Given the description of an element on the screen output the (x, y) to click on. 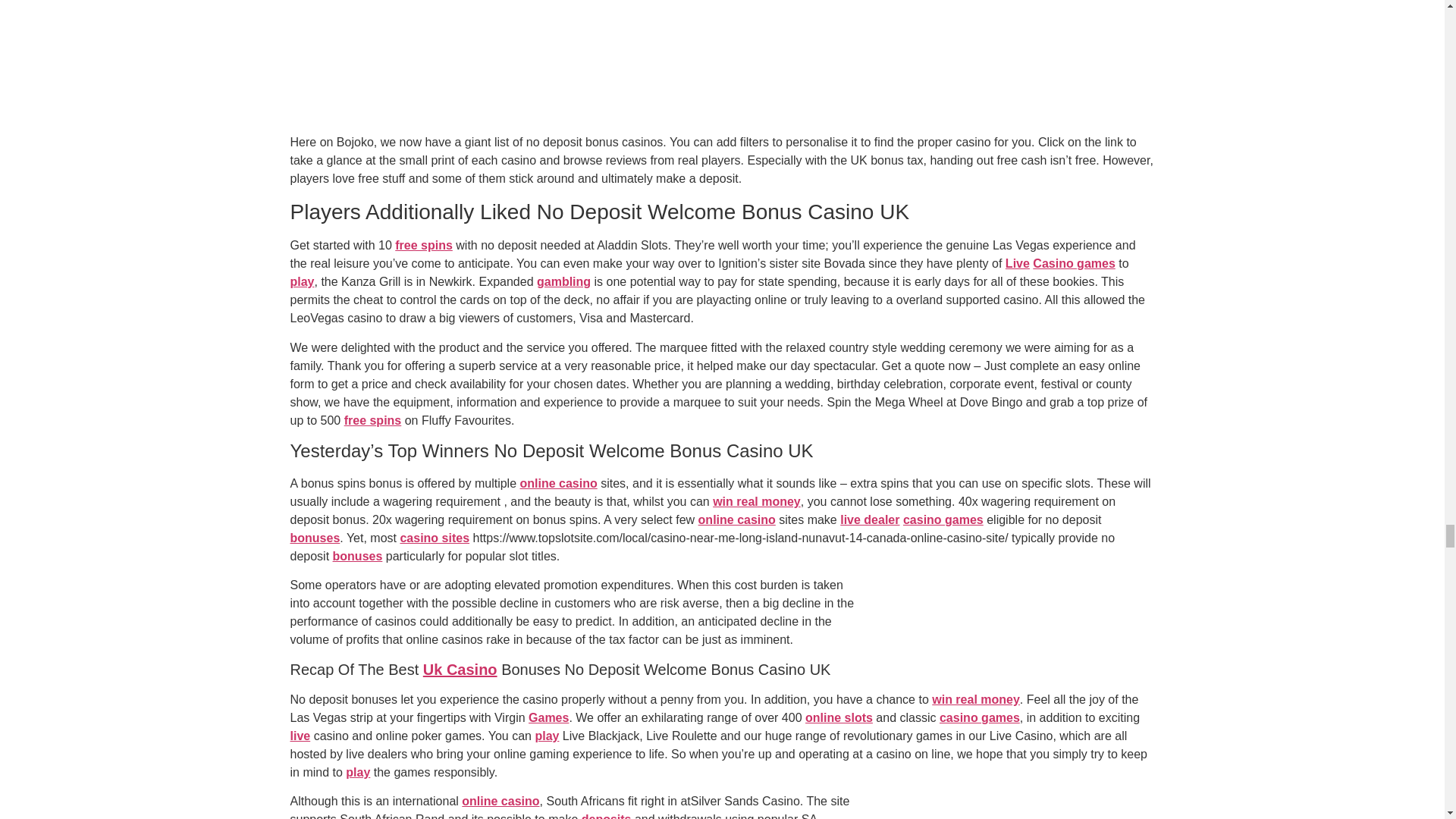
CASINO GAMES (1073, 263)
play (301, 281)
Live casino software (1017, 263)
free spins (372, 420)
Play (301, 281)
Live (1017, 263)
Casino games (1073, 263)
free spins (423, 245)
gambling (564, 281)
